Given the description of an element on the screen output the (x, y) to click on. 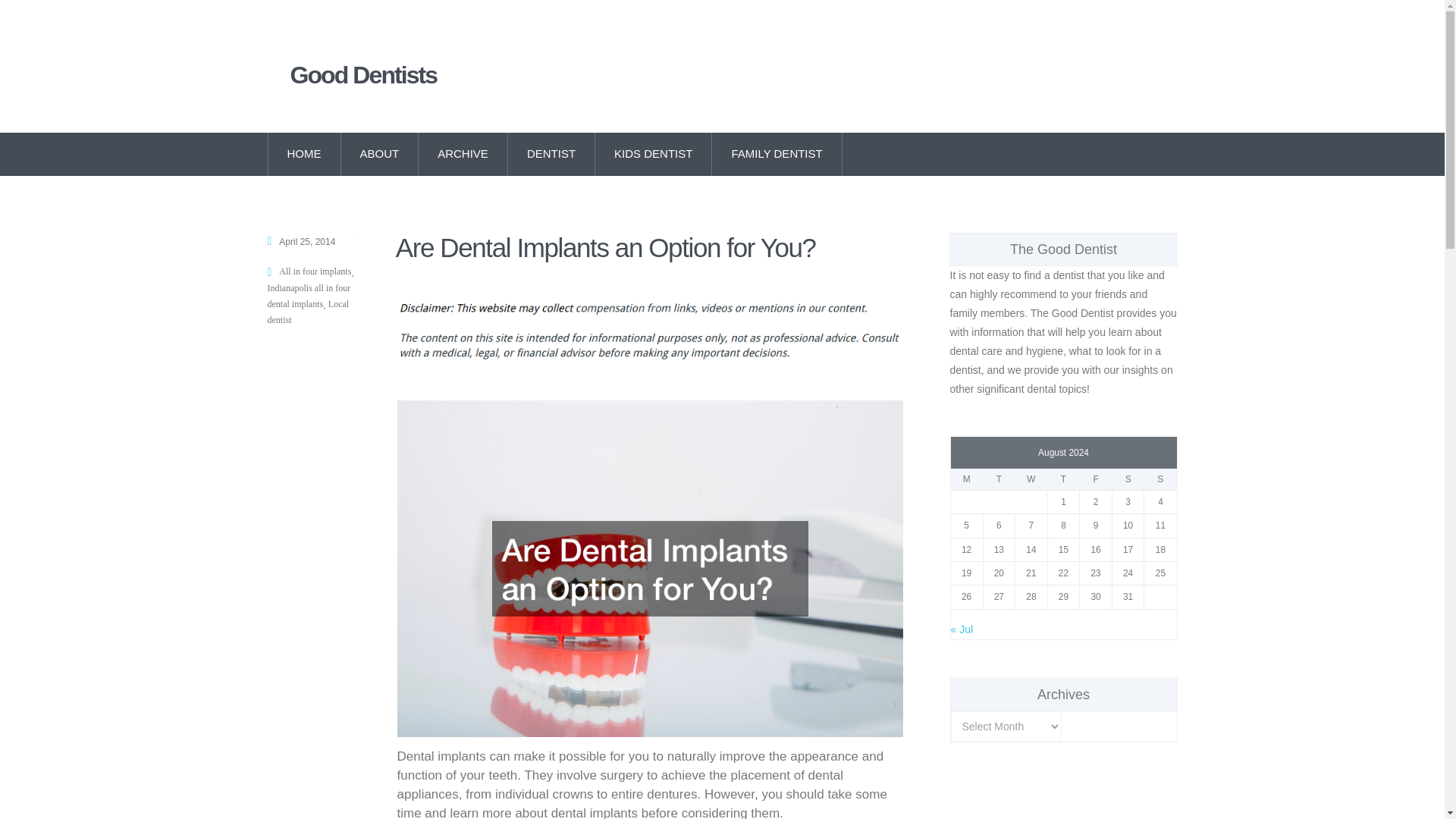
KIDS DENTIST (653, 154)
All in four implants (314, 271)
ARCHIVE (463, 154)
Saturday (1128, 479)
Good Dentists (386, 75)
Sunday (1160, 479)
Indianapolis all in four dental implants (308, 295)
Friday (1096, 479)
Local dentist (307, 311)
Tuesday (998, 479)
Monday (967, 479)
Wednesday (1031, 479)
DENTIST (551, 154)
FAMILY DENTIST (776, 154)
ABOUT (379, 154)
